Given the description of an element on the screen output the (x, y) to click on. 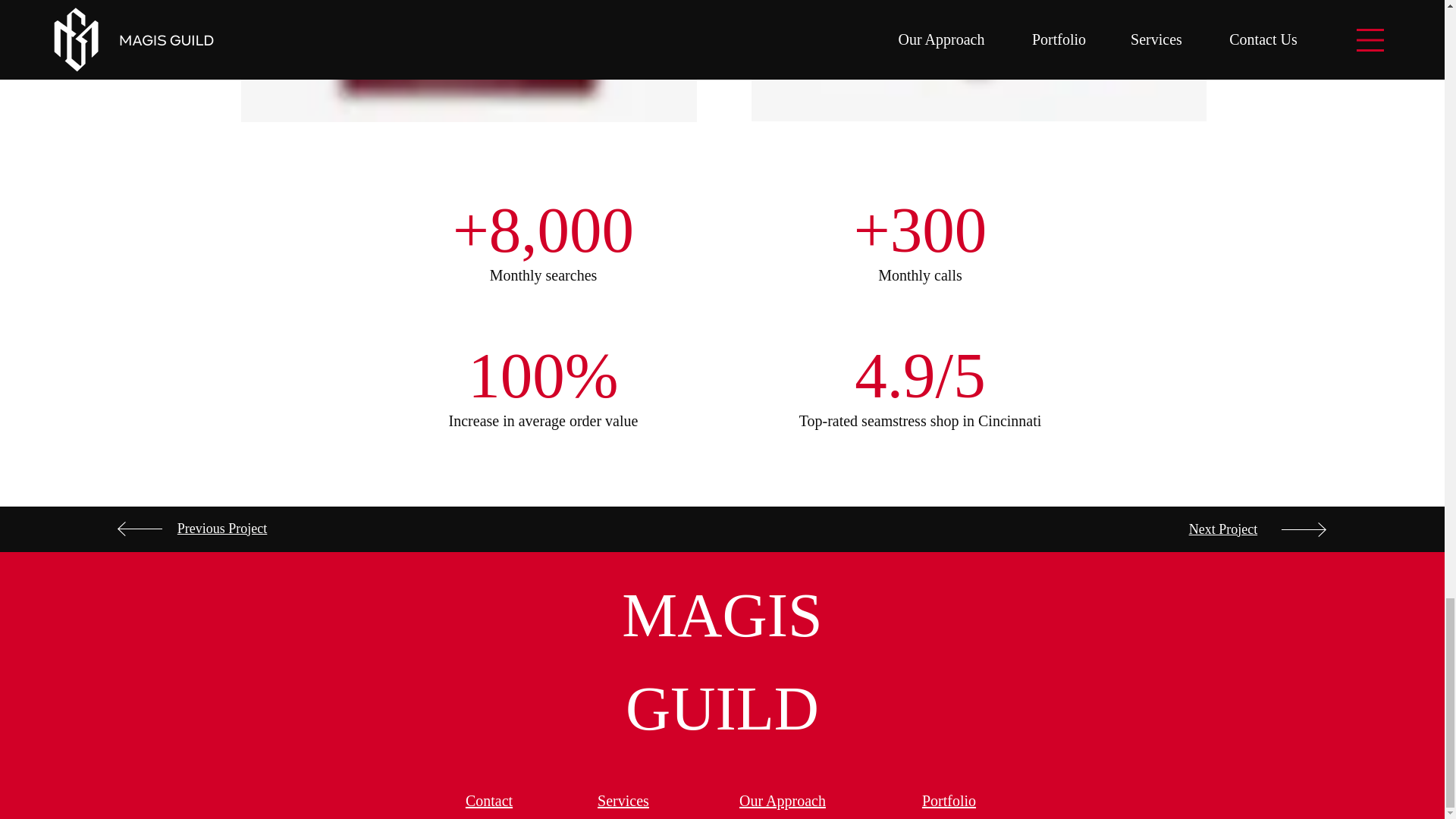
Portfolio (948, 800)
MAGIS GUILD (721, 661)
Services (622, 800)
Next Project (1223, 529)
Contact (488, 800)
Previous Project (222, 528)
Our Approach (782, 800)
